Given the description of an element on the screen output the (x, y) to click on. 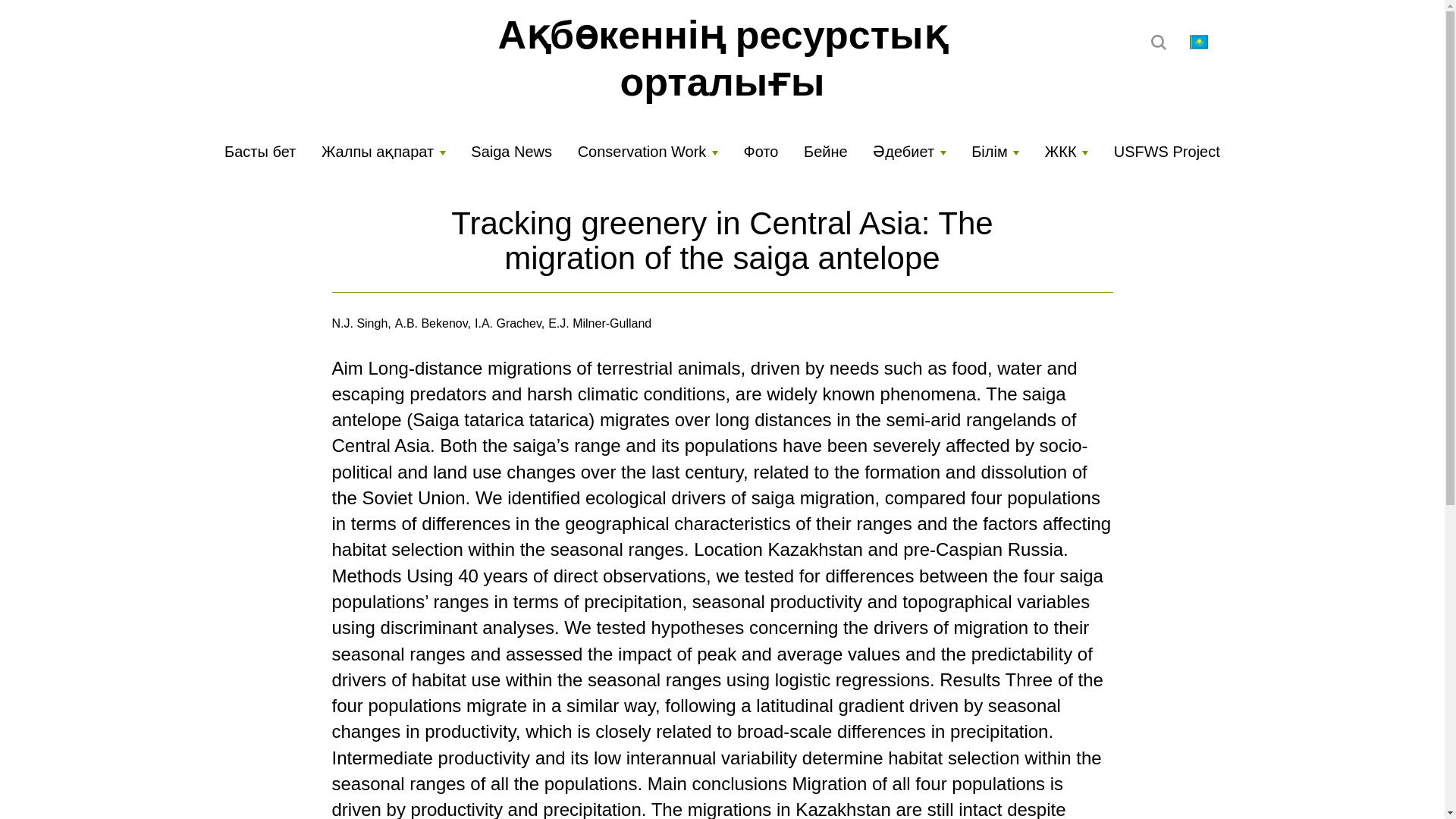
Conservation Work (647, 148)
USFWS Project (1166, 148)
USFWS Project (1166, 148)
Saiga News (511, 148)
Kazakh (1198, 42)
